Given the description of an element on the screen output the (x, y) to click on. 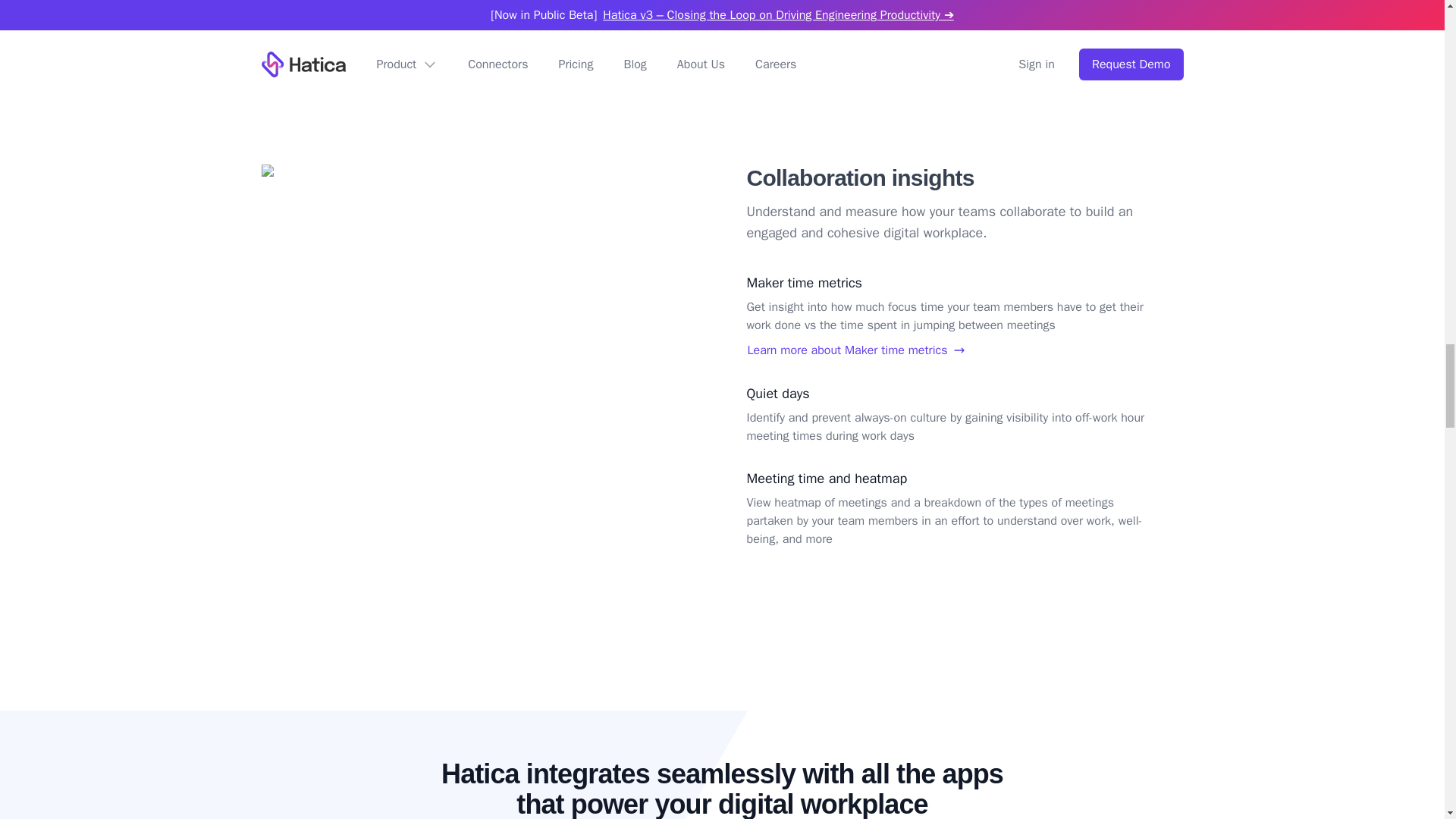
Learn more about Maker time metrics (946, 350)
